Given the description of an element on the screen output the (x, y) to click on. 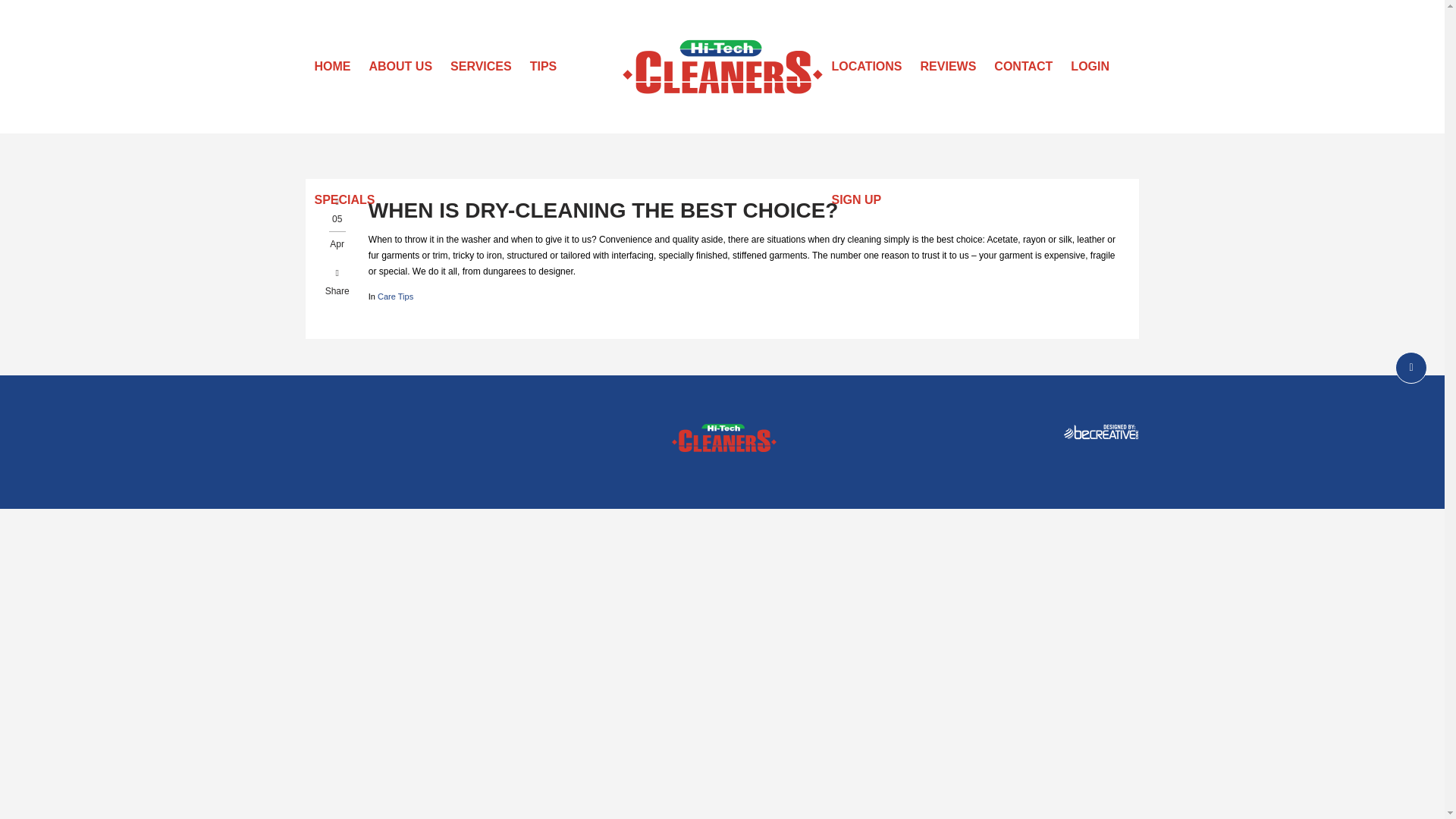
CONTACT (1023, 66)
HOME (331, 66)
SERVICES (481, 66)
REVIEWS (948, 66)
SPECIALS (344, 199)
Care Tips (395, 296)
TIPS (543, 66)
ABOUT US (400, 66)
Share (336, 280)
LOGIN (1089, 66)
LOCATIONS (866, 66)
SIGN UP (855, 199)
